Given the description of an element on the screen output the (x, y) to click on. 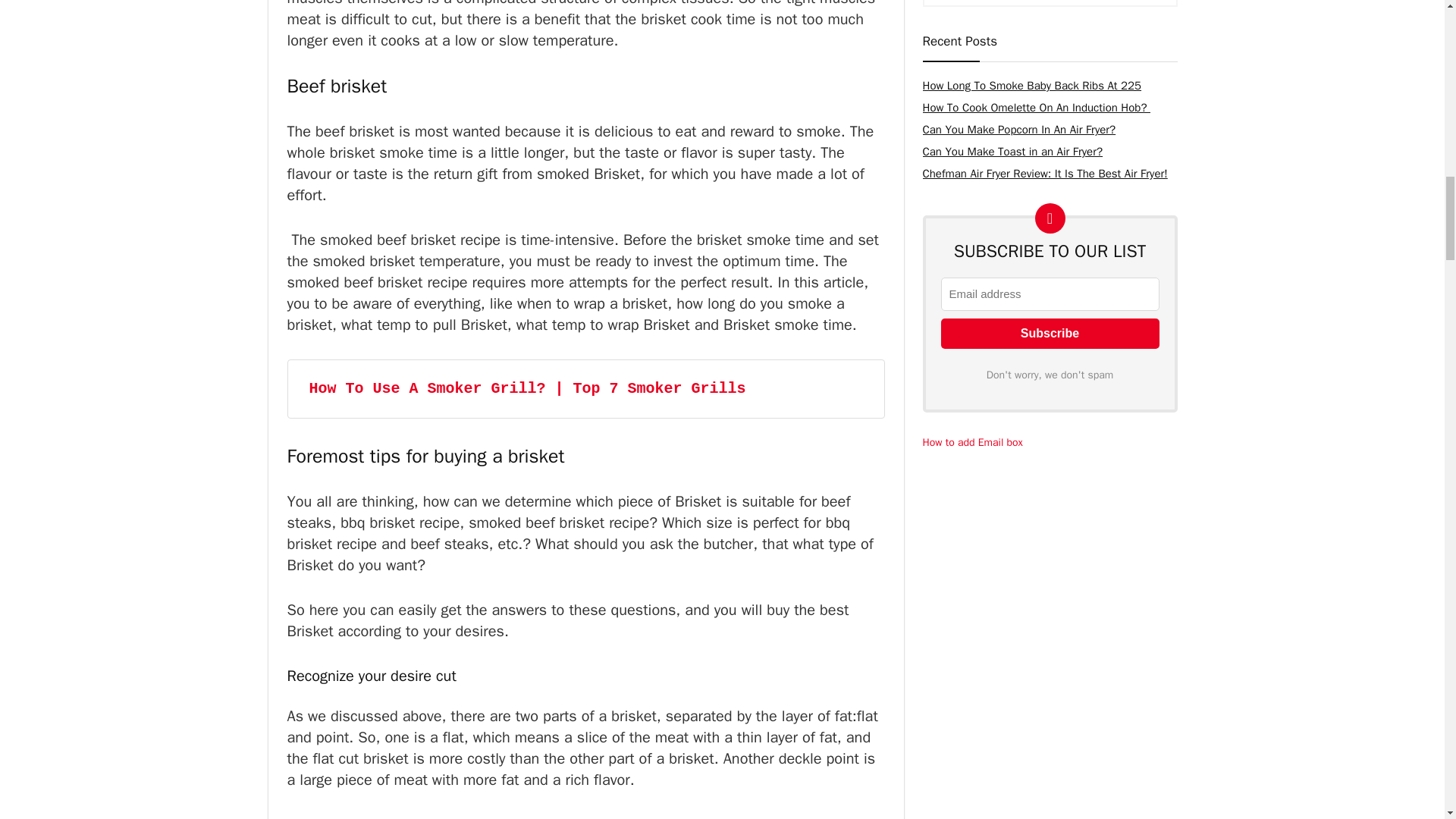
Subscribe (1049, 333)
